Given the description of an element on the screen output the (x, y) to click on. 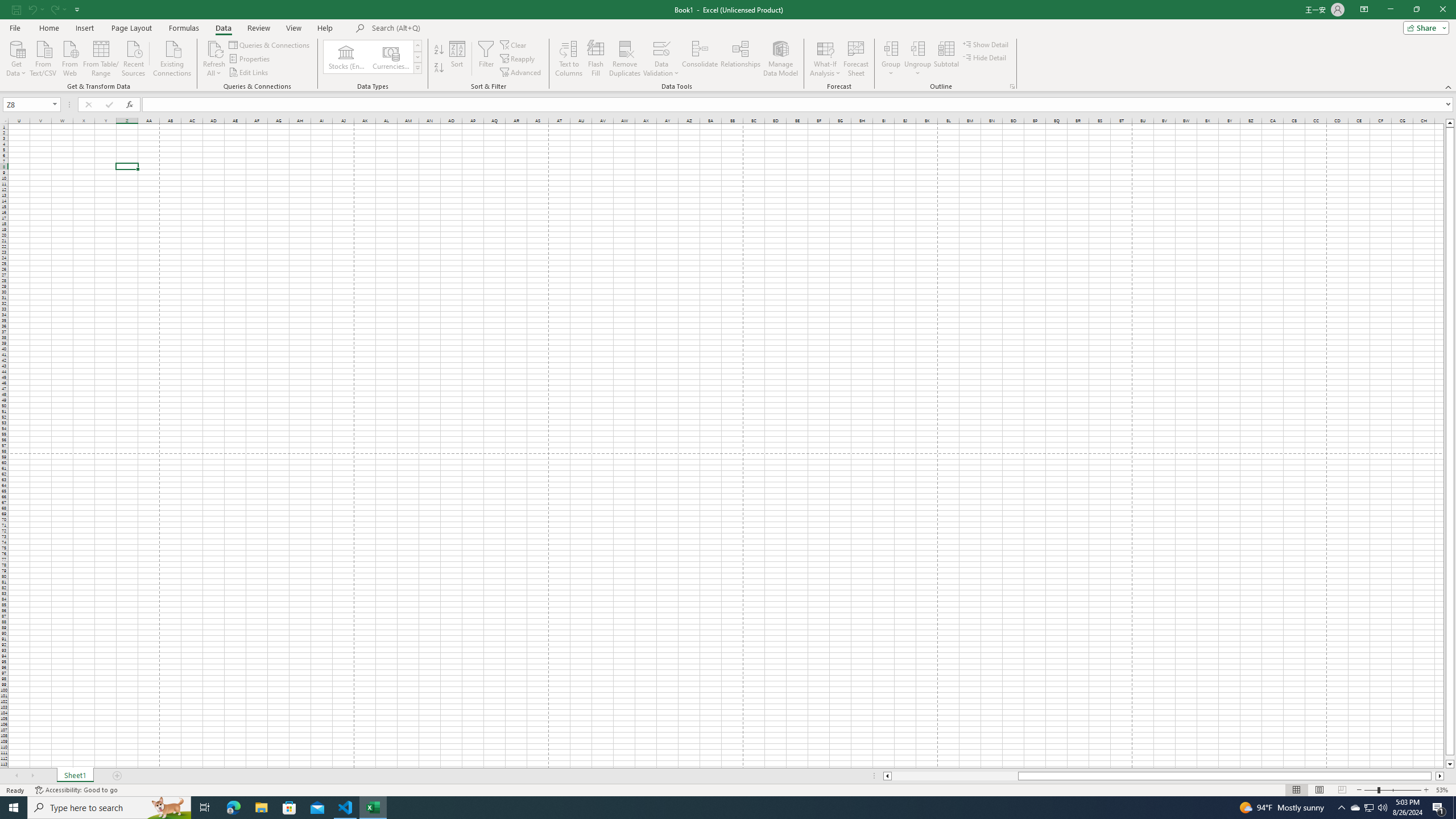
From Text/CSV (43, 57)
Sort A to Z (438, 49)
Consolidate... (700, 58)
Get Data (16, 57)
Queries & Connections (270, 44)
